Given the description of an element on the screen output the (x, y) to click on. 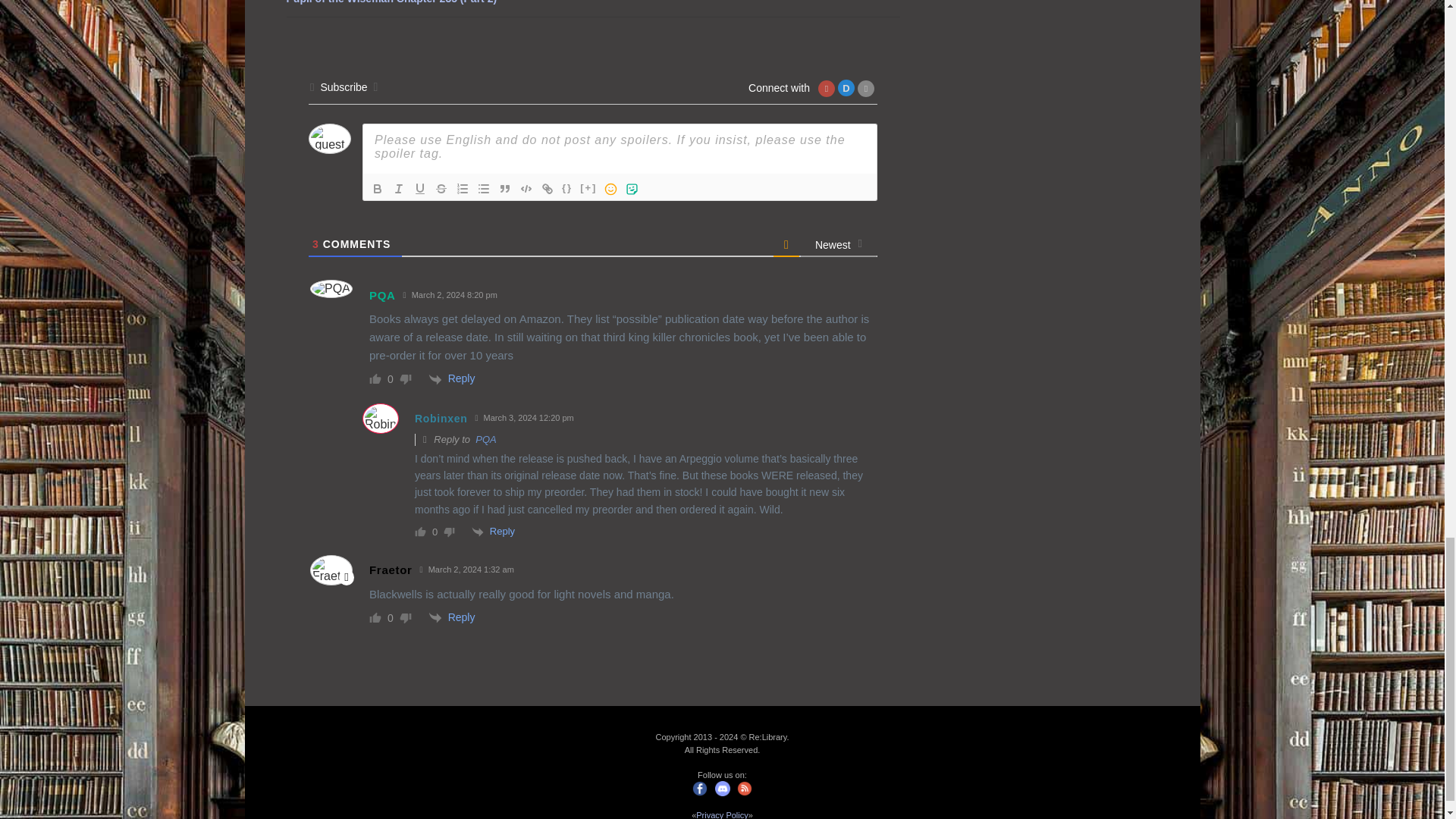
Underline (419, 188)
Bold (377, 188)
Italic (398, 188)
